Given the description of an element on the screen output the (x, y) to click on. 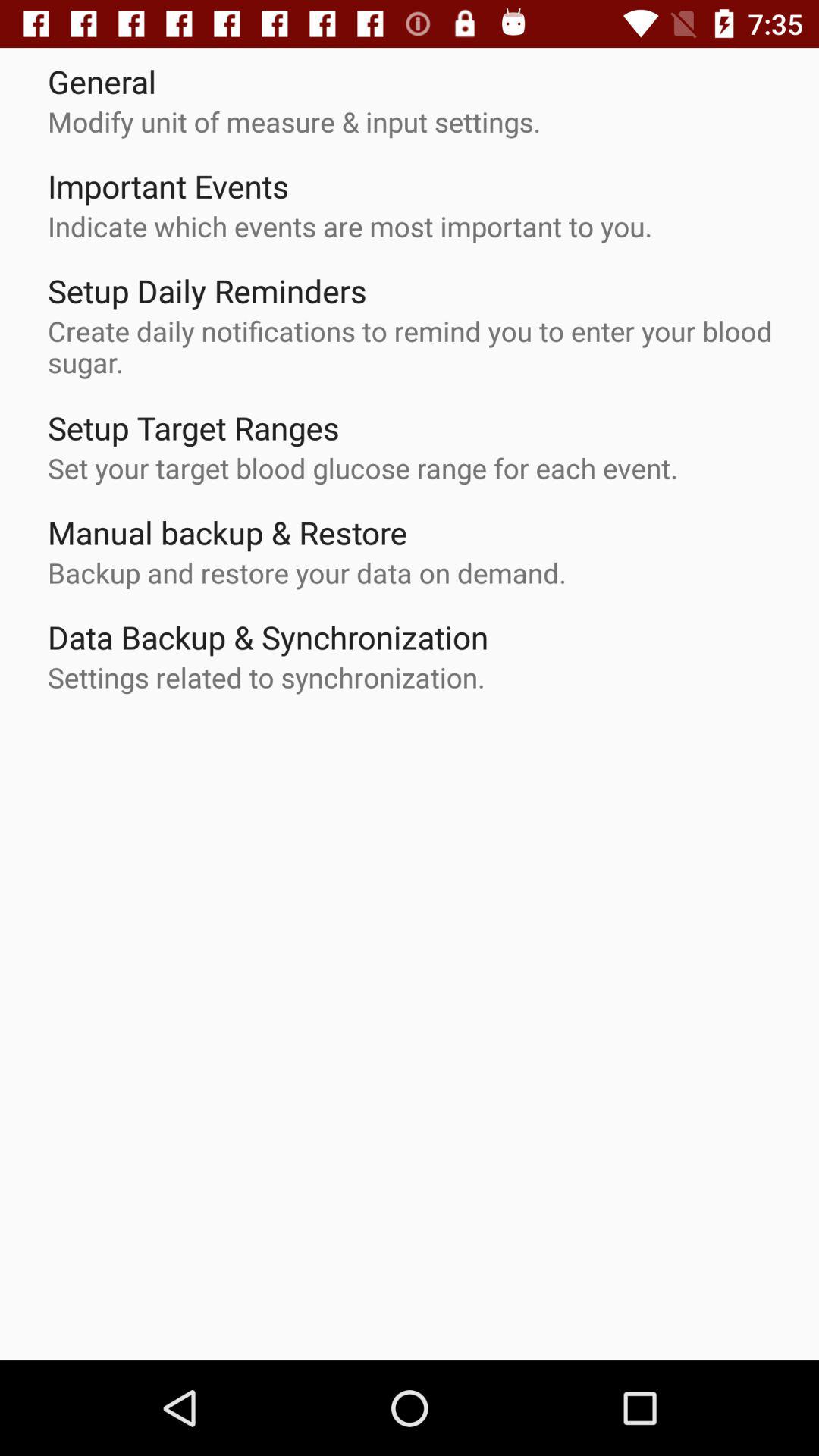
swipe until the create daily notifications icon (417, 347)
